Given the description of an element on the screen output the (x, y) to click on. 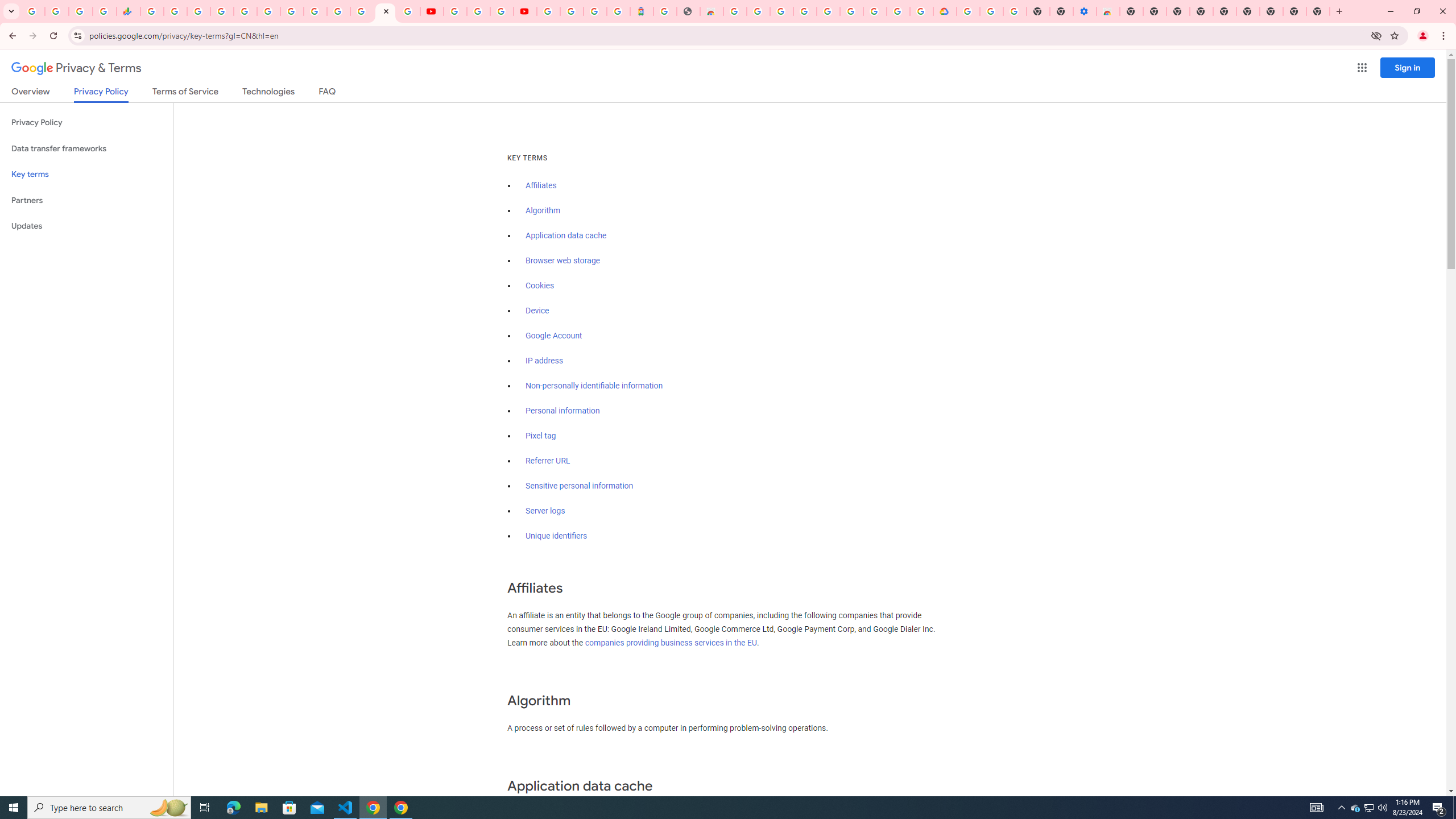
Browser web storage (562, 260)
Partners (86, 199)
Affiliates (540, 185)
Data transfer frameworks (86, 148)
Google Account (553, 335)
Sign in - Google Accounts (547, 11)
Chrome Web Store - Accessibility extensions (1108, 11)
